Given the description of an element on the screen output the (x, y) to click on. 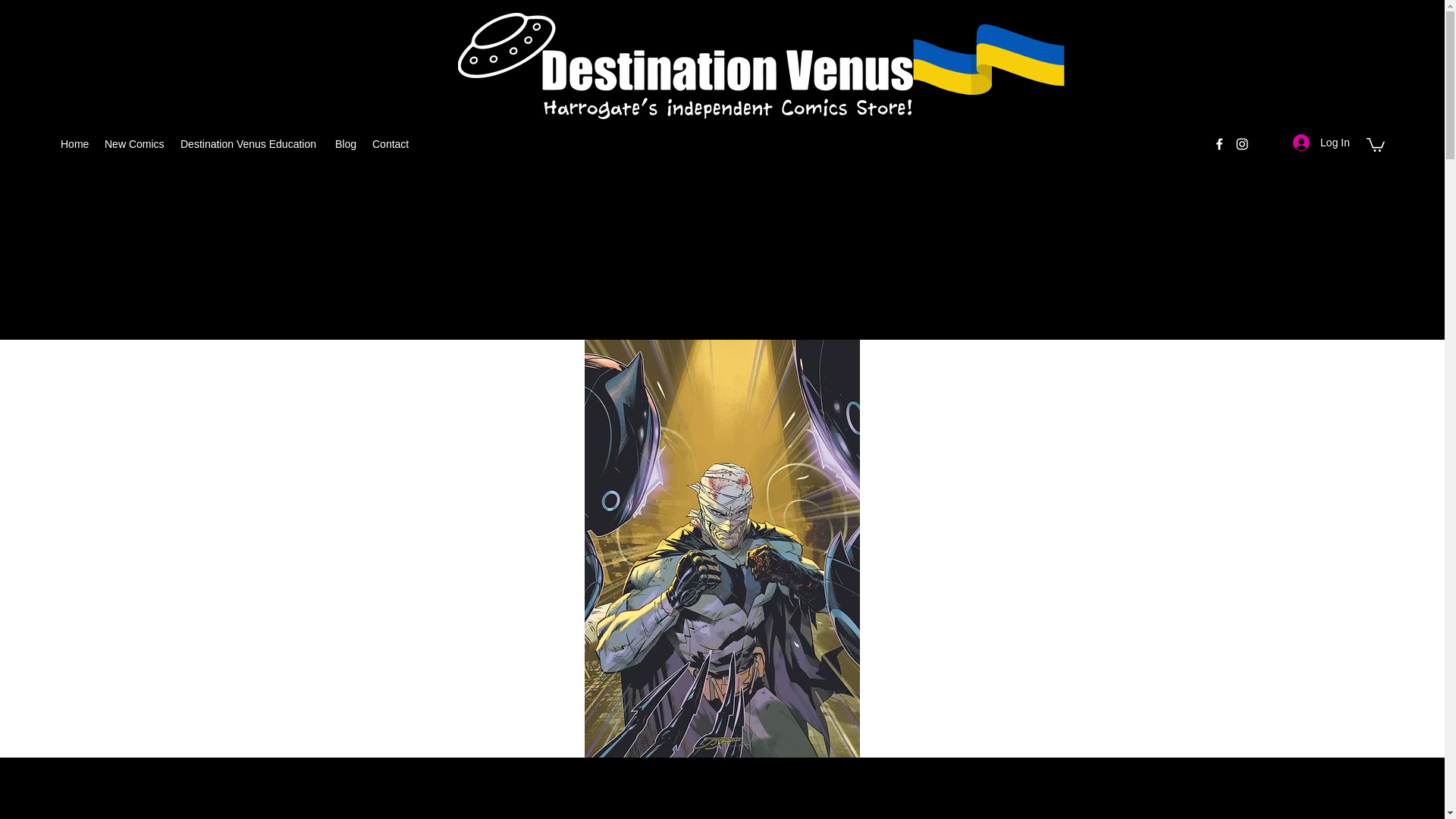
Destination Venus Education (250, 143)
Home (74, 143)
Blog (346, 143)
Log In (1320, 142)
Contact (391, 143)
New Comics (135, 143)
